Given the description of an element on the screen output the (x, y) to click on. 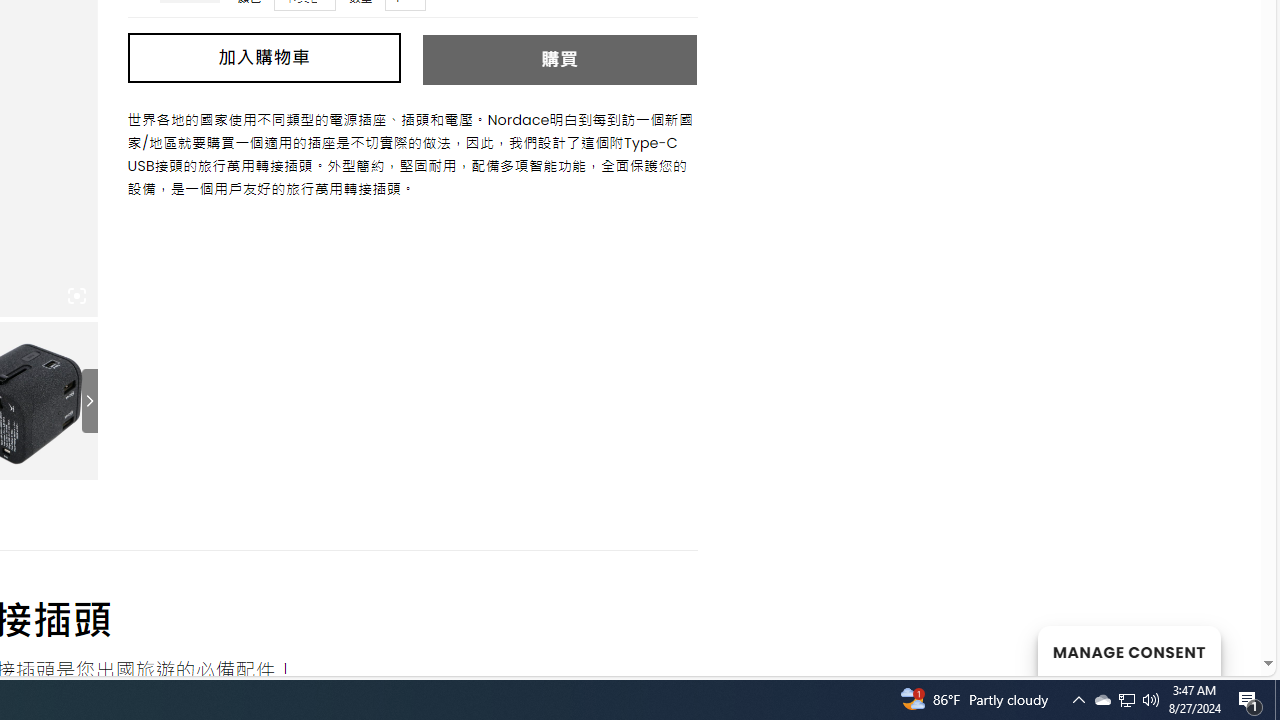
Class: iconic-woothumbs-fullscreen (75, 296)
MANAGE CONSENT (1128, 650)
